Given the description of an element on the screen output the (x, y) to click on. 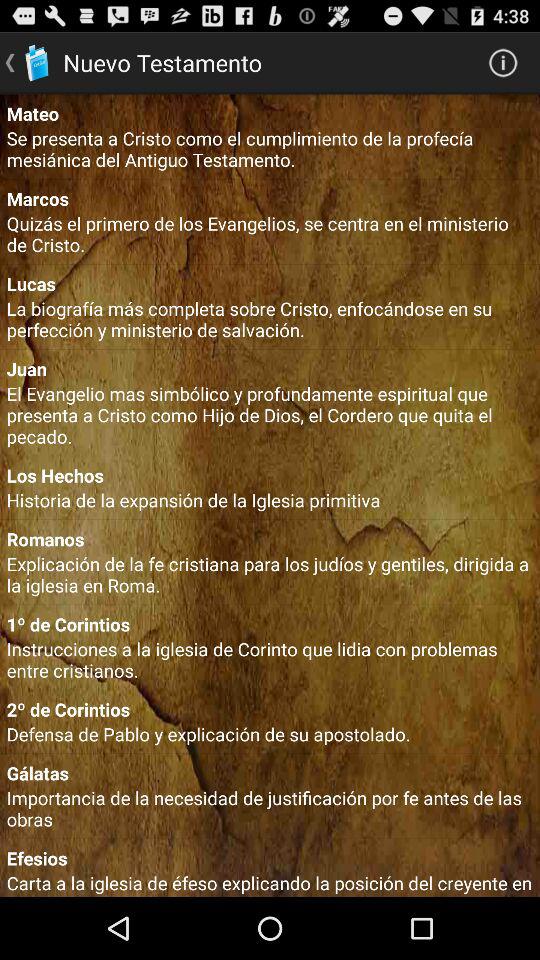
choose icon above el evangelio mas (269, 368)
